Given the description of an element on the screen output the (x, y) to click on. 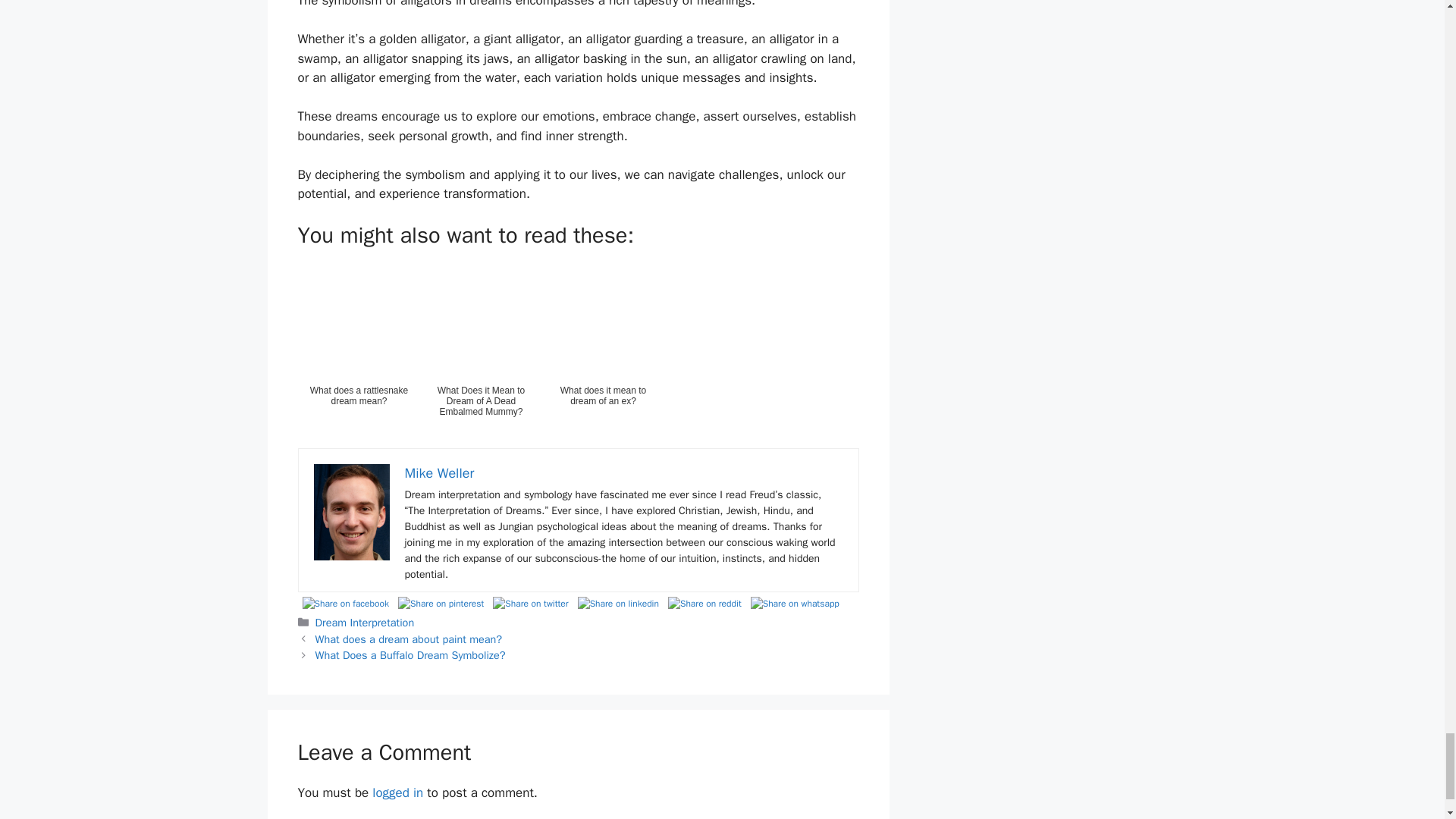
facebook (345, 603)
twitter (529, 603)
reddit (704, 603)
pinterest (440, 603)
linkedin (618, 603)
Mike Weller (439, 473)
